Given the description of an element on the screen output the (x, y) to click on. 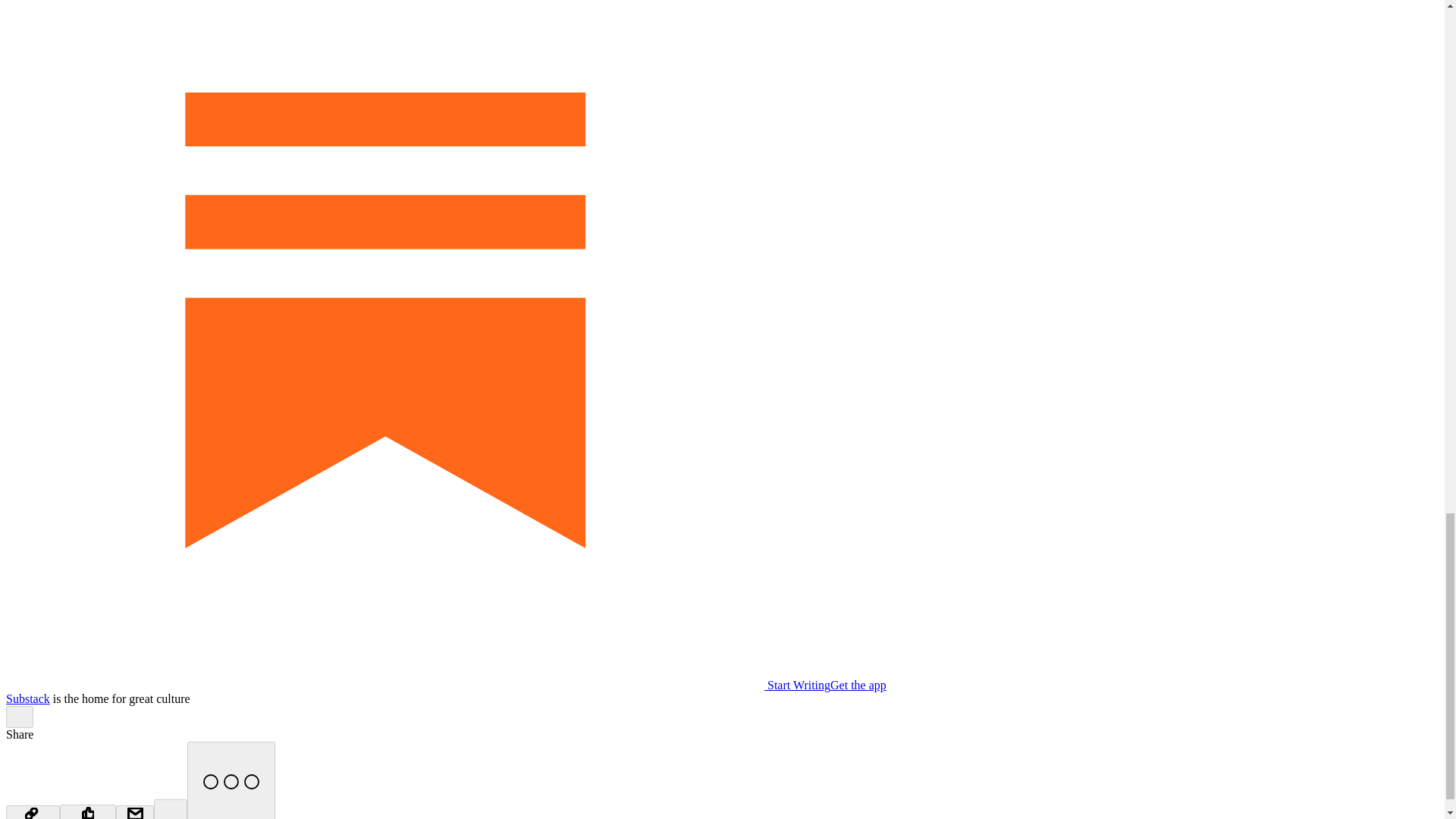
Substack (27, 698)
Get the app (857, 684)
Start Writing (417, 684)
